Given the description of an element on the screen output the (x, y) to click on. 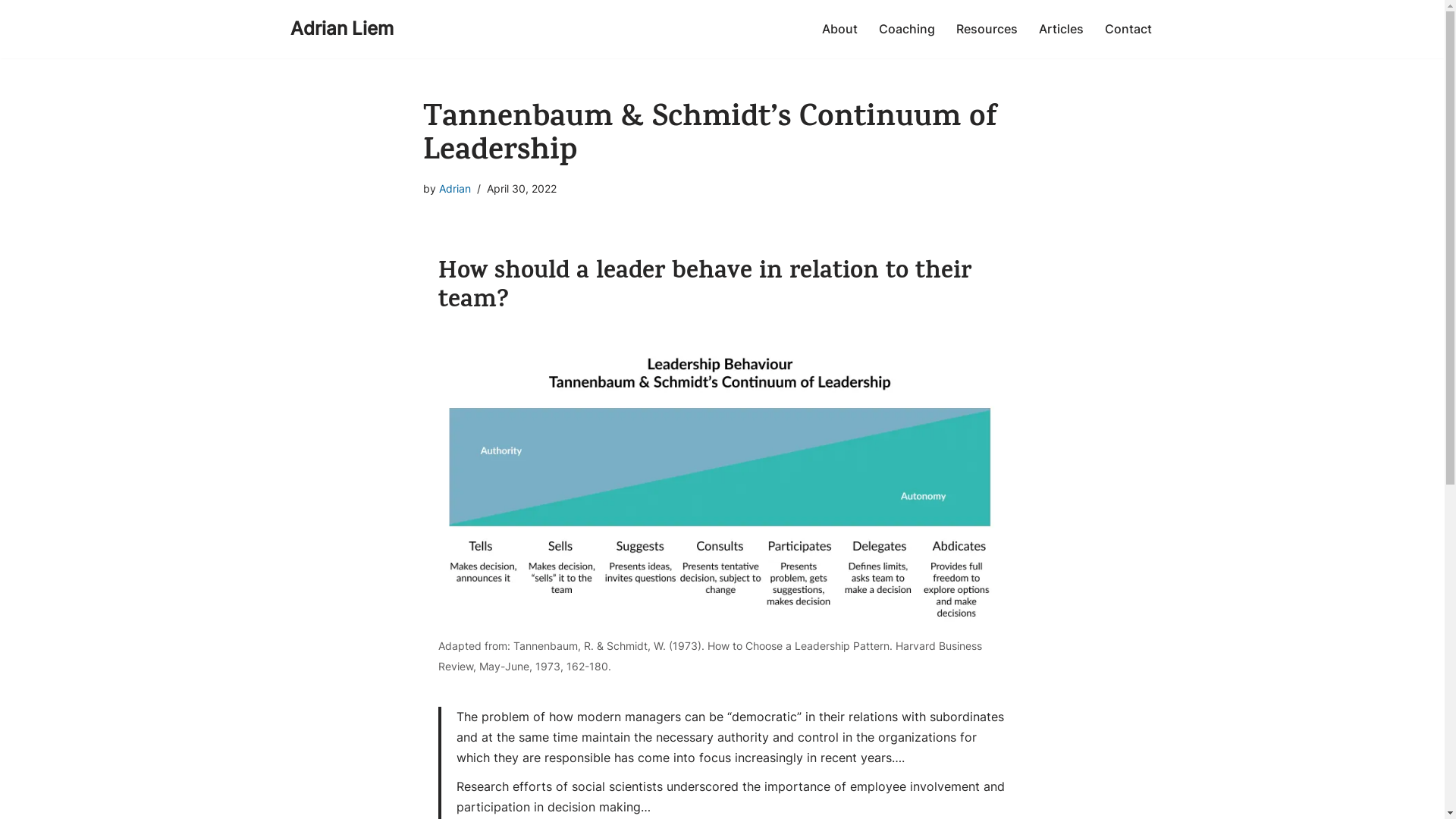
Resources Element type: text (985, 28)
Contact Element type: text (1127, 28)
Skip to content Element type: text (11, 31)
About Element type: text (839, 28)
Coaching Element type: text (906, 28)
Articles Element type: text (1060, 28)
Adrian Element type: text (454, 188)
Adrian Liem Element type: text (340, 28)
